Given the description of an element on the screen output the (x, y) to click on. 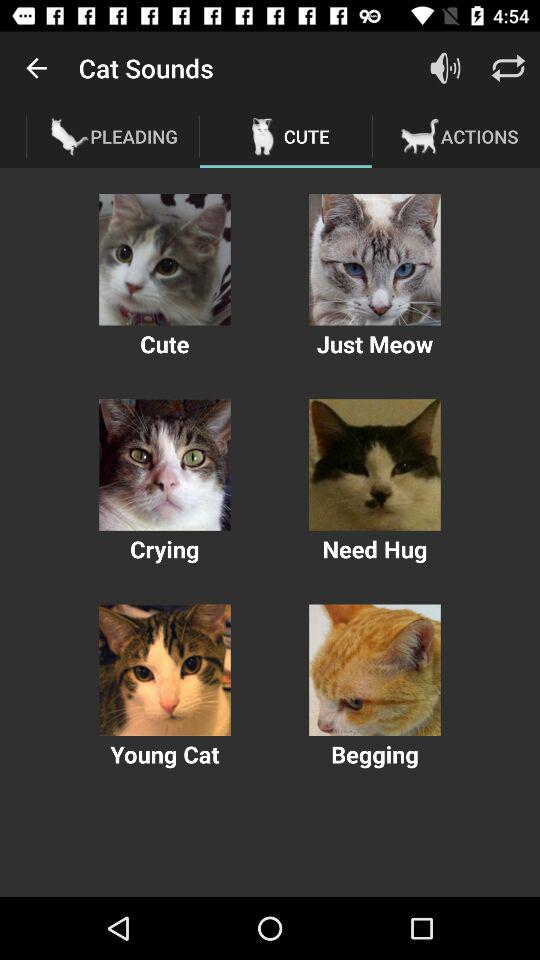
toggle settings (508, 67)
